Given the description of an element on the screen output the (x, y) to click on. 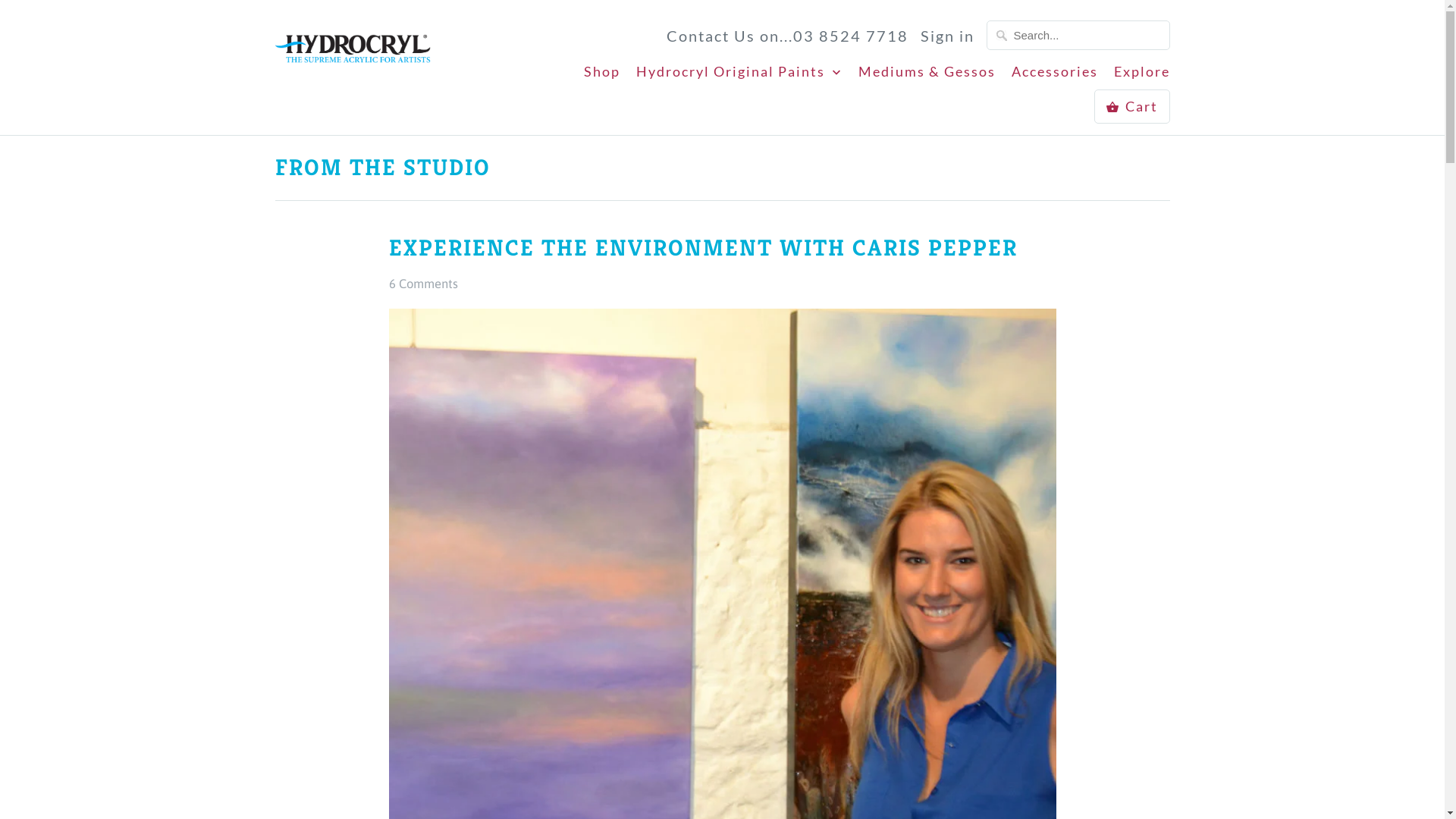
FROM THE STUDIO Element type: text (381, 167)
Hydrocryl Original Paints Element type: text (738, 75)
Explore Element type: text (1141, 74)
Shop Element type: text (601, 74)
Hydrocryl Australia Pty Ltd Element type: hover (351, 47)
Mediums & Gessos Element type: text (926, 74)
Accessories Element type: text (1054, 74)
Contact Us on...03 8524 7718 Element type: text (786, 35)
6 Comments Element type: text (422, 283)
Sign in Element type: text (947, 35)
Cart Element type: text (1131, 106)
